Given the description of an element on the screen output the (x, y) to click on. 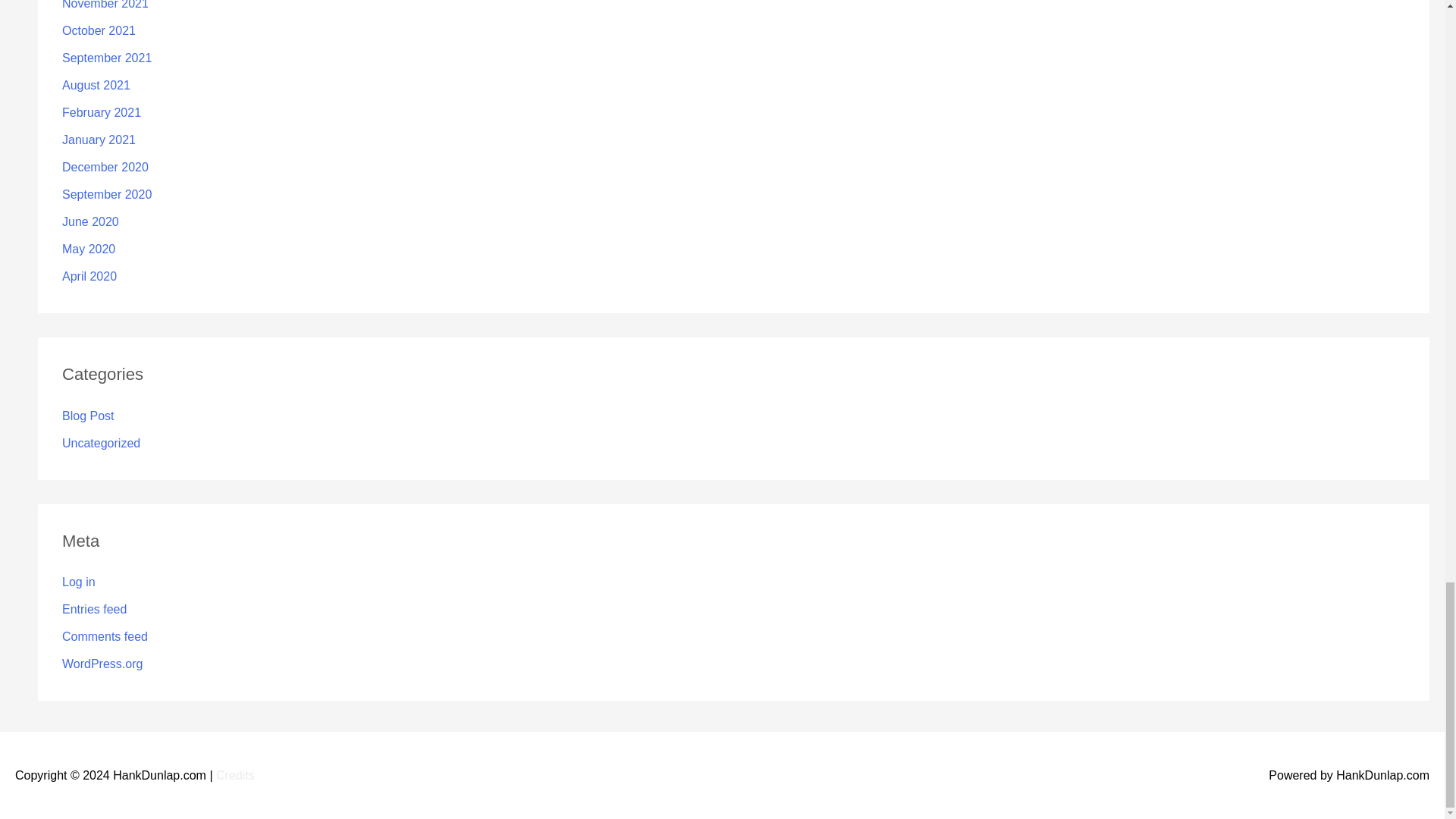
October 2021 (98, 30)
January 2021 (98, 139)
September 2021 (106, 57)
May 2020 (88, 248)
February 2021 (101, 112)
December 2020 (105, 166)
September 2020 (106, 194)
June 2020 (90, 221)
April 2020 (89, 276)
November 2021 (105, 4)
